Given the description of an element on the screen output the (x, y) to click on. 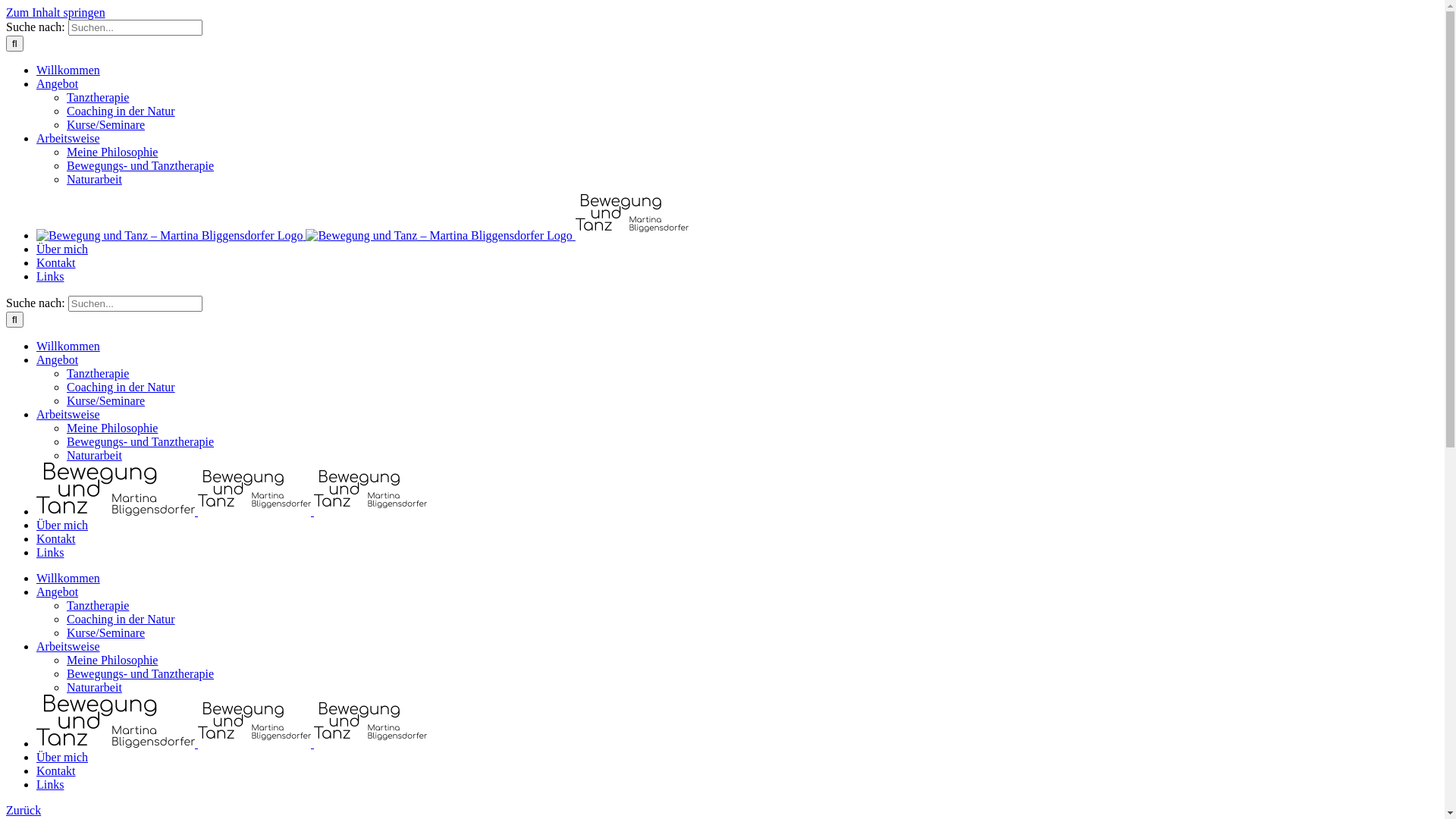
Links Element type: text (49, 275)
Naturarbeit Element type: text (94, 454)
Angebot Element type: text (57, 83)
Angebot Element type: text (57, 591)
Links Element type: text (49, 552)
Tanztherapie Element type: text (97, 373)
Links Element type: text (49, 784)
Angebot Element type: text (57, 359)
Kurse/Seminare Element type: text (105, 124)
Meine Philosophie Element type: text (111, 151)
Arbeitsweise Element type: text (68, 646)
Arbeitsweise Element type: text (68, 413)
Coaching in der Natur Element type: text (120, 110)
Willkommen Element type: text (68, 69)
Coaching in der Natur Element type: text (120, 618)
Kontakt Element type: text (55, 770)
Arbeitsweise Element type: text (68, 137)
Tanztherapie Element type: text (97, 605)
Kurse/Seminare Element type: text (105, 400)
Meine Philosophie Element type: text (111, 427)
Kontakt Element type: text (55, 538)
Naturarbeit Element type: text (94, 178)
Bewegungs- und Tanztherapie Element type: text (139, 165)
Coaching in der Natur Element type: text (120, 386)
Willkommen Element type: text (68, 345)
Bewegungs- und Tanztherapie Element type: text (139, 673)
Kontakt Element type: text (55, 262)
Bewegungs- und Tanztherapie Element type: text (139, 441)
Naturarbeit Element type: text (94, 686)
Willkommen Element type: text (68, 577)
Zum Inhalt springen Element type: text (55, 12)
Tanztherapie Element type: text (97, 97)
Meine Philosophie Element type: text (111, 659)
Kurse/Seminare Element type: text (105, 632)
